Given the description of an element on the screen output the (x, y) to click on. 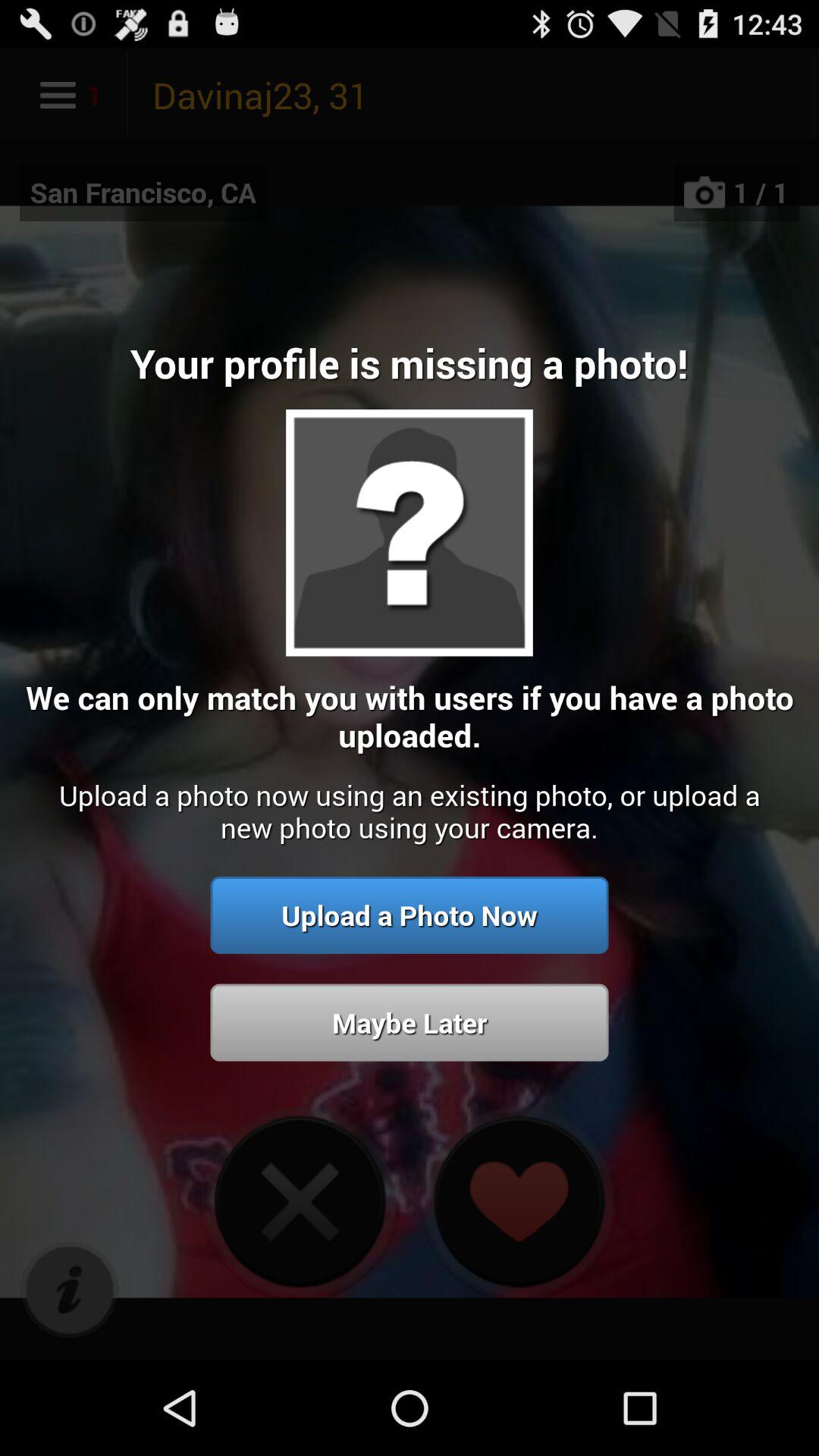
get information on app (69, 1290)
